Given the description of an element on the screen output the (x, y) to click on. 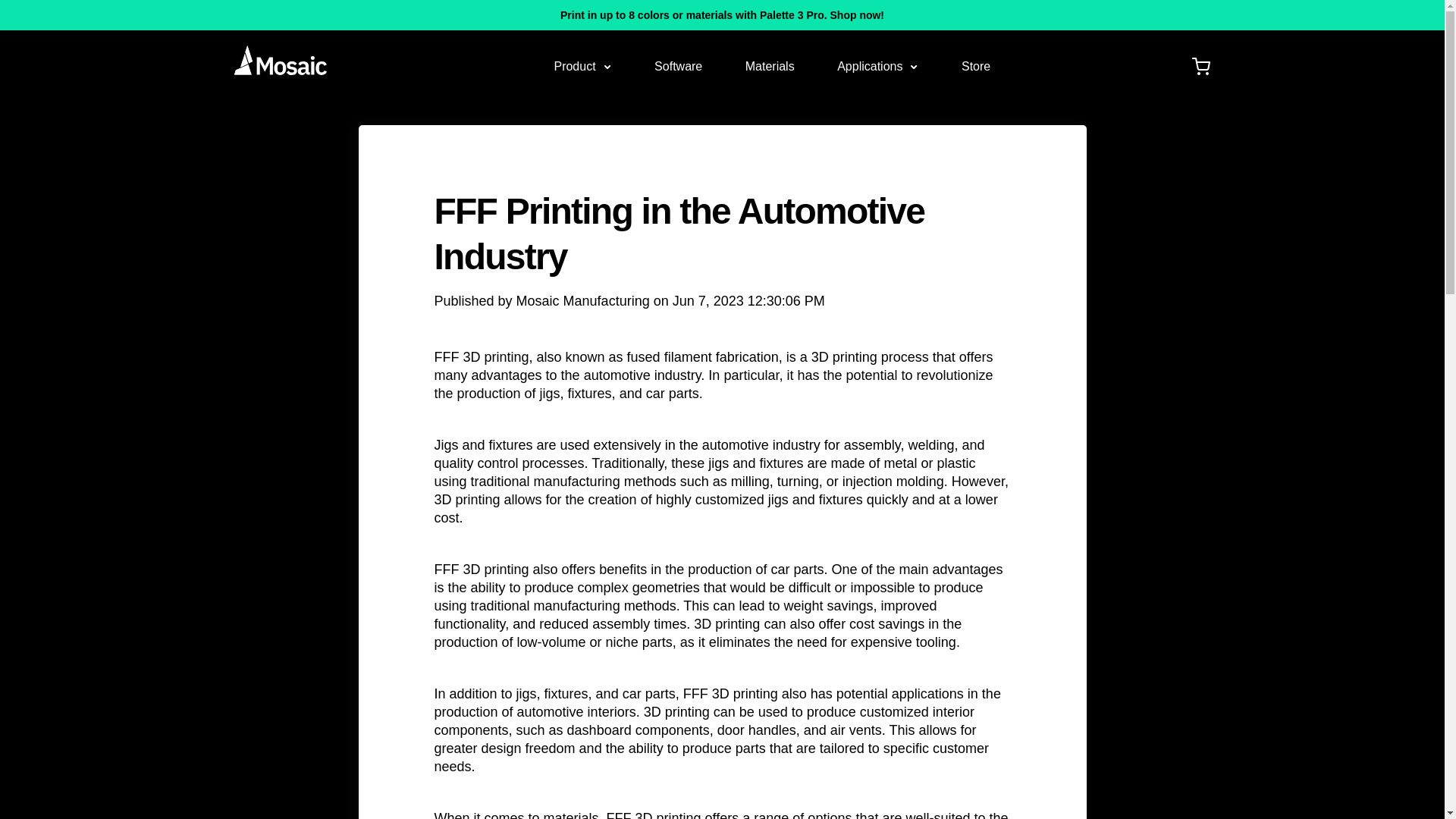
Store (975, 65)
Materials (769, 65)
Store (975, 65)
Product (582, 65)
Software (677, 65)
Applications (877, 65)
Product (582, 65)
Materials (769, 65)
Software (677, 65)
Applications (877, 65)
